Given the description of an element on the screen output the (x, y) to click on. 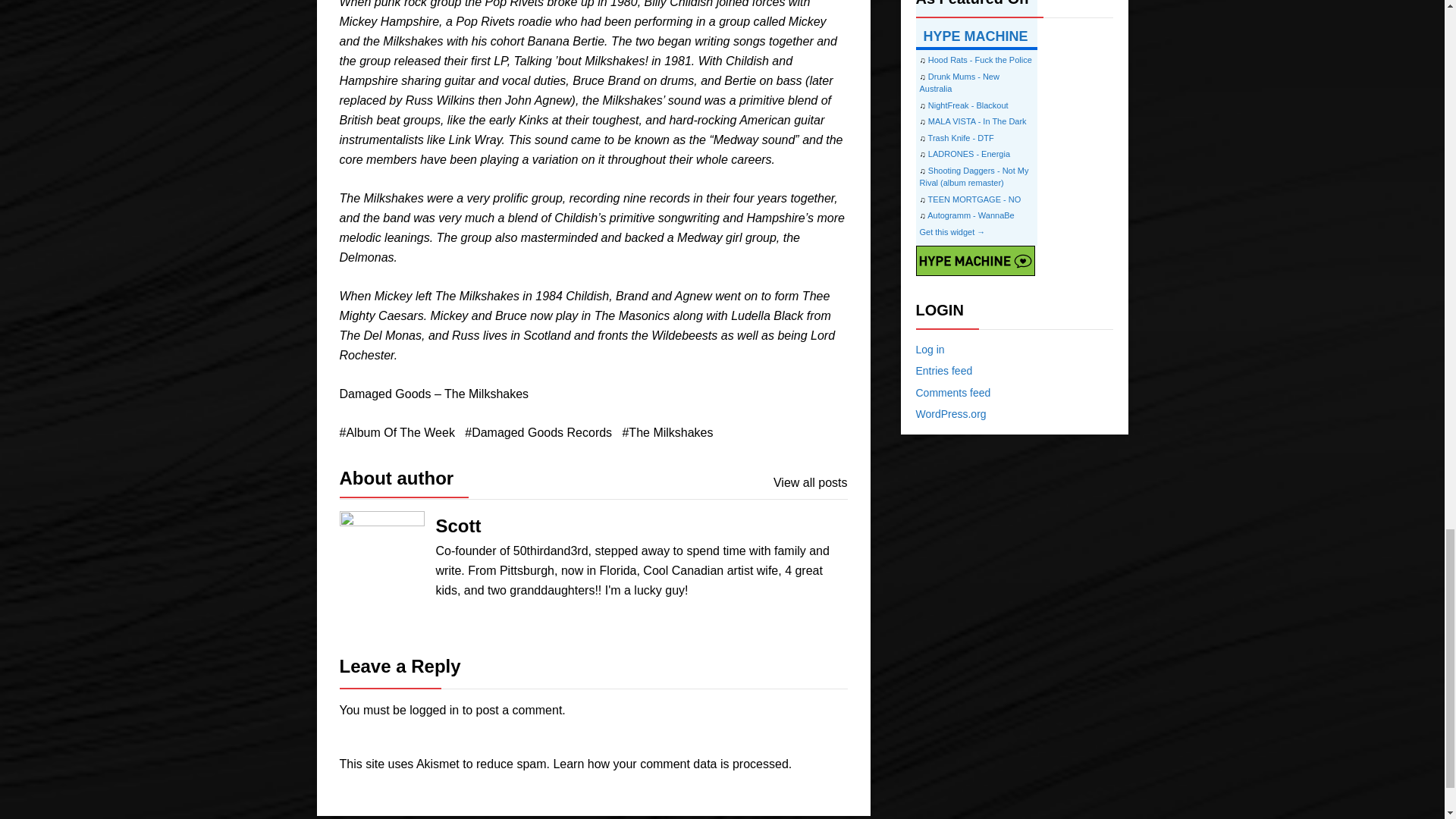
TEEN MORTGAGE - NO (975, 198)
NightFreak - Blackout (968, 103)
MALA VISTA - In The Dark (977, 121)
Hood Rats - Fuck the Police (980, 59)
Autogramm - WannaBe (970, 215)
logged in (433, 709)
Drunk Mums - New Australia (958, 82)
Log in (929, 349)
Album Of The Week (396, 433)
Damaged Goods Records (537, 433)
Learn how your comment data is processed (670, 763)
The Milkshakes (667, 433)
Entries feed (943, 370)
Comments feed (953, 392)
View all posts (810, 483)
